Given the description of an element on the screen output the (x, y) to click on. 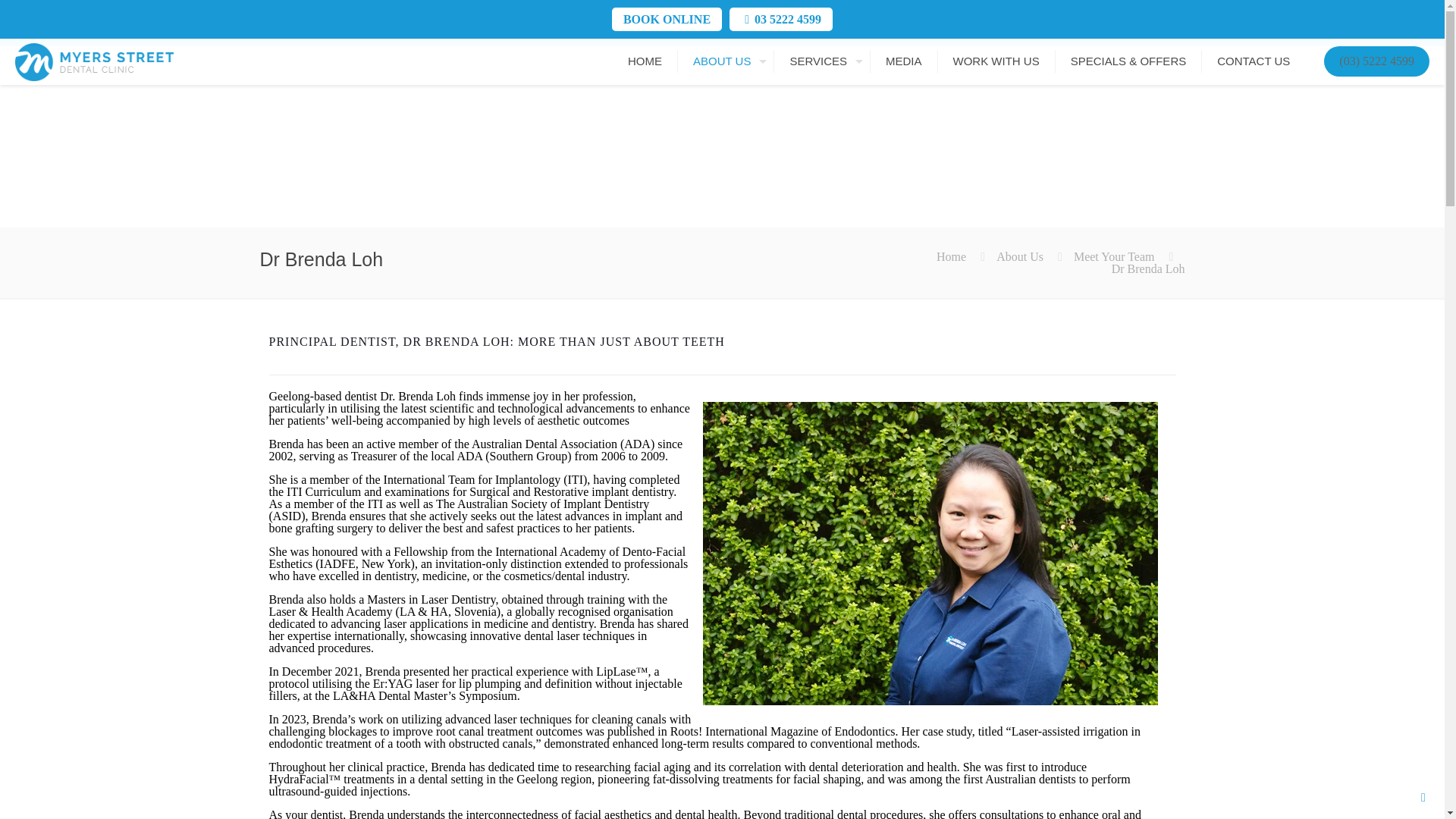
HOME (645, 61)
WORK WITH US (996, 61)
BOOK ONLINE (666, 19)
03 5222 4599 (787, 19)
MEDIA (903, 61)
ABOUT US (726, 61)
Myers Street Dental Clinic Geelong (93, 61)
CONTACT US (1253, 61)
SERVICES (822, 61)
